Given the description of an element on the screen output the (x, y) to click on. 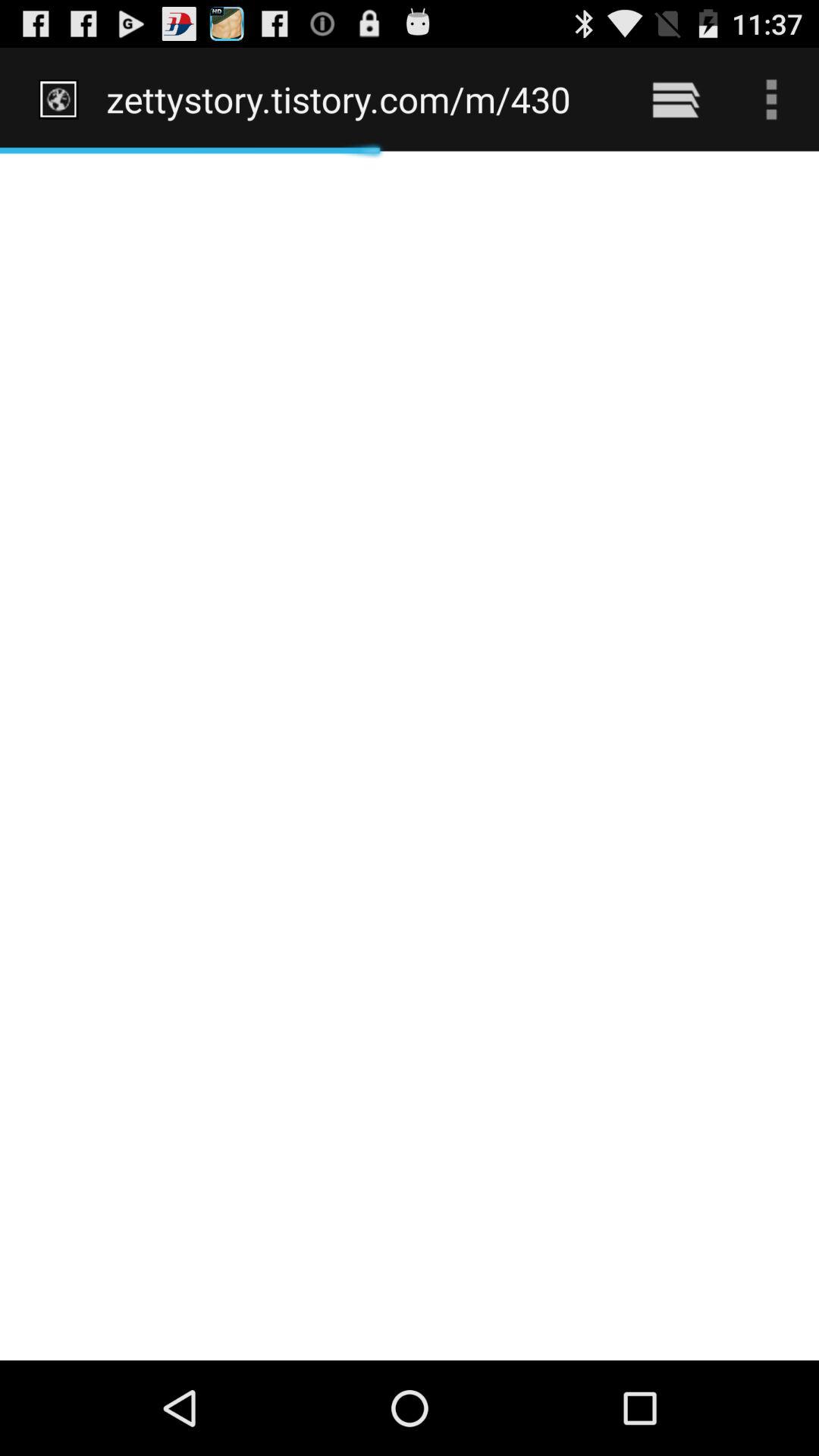
turn on item to the right of the zettystory tistory com (675, 99)
